Given the description of an element on the screen output the (x, y) to click on. 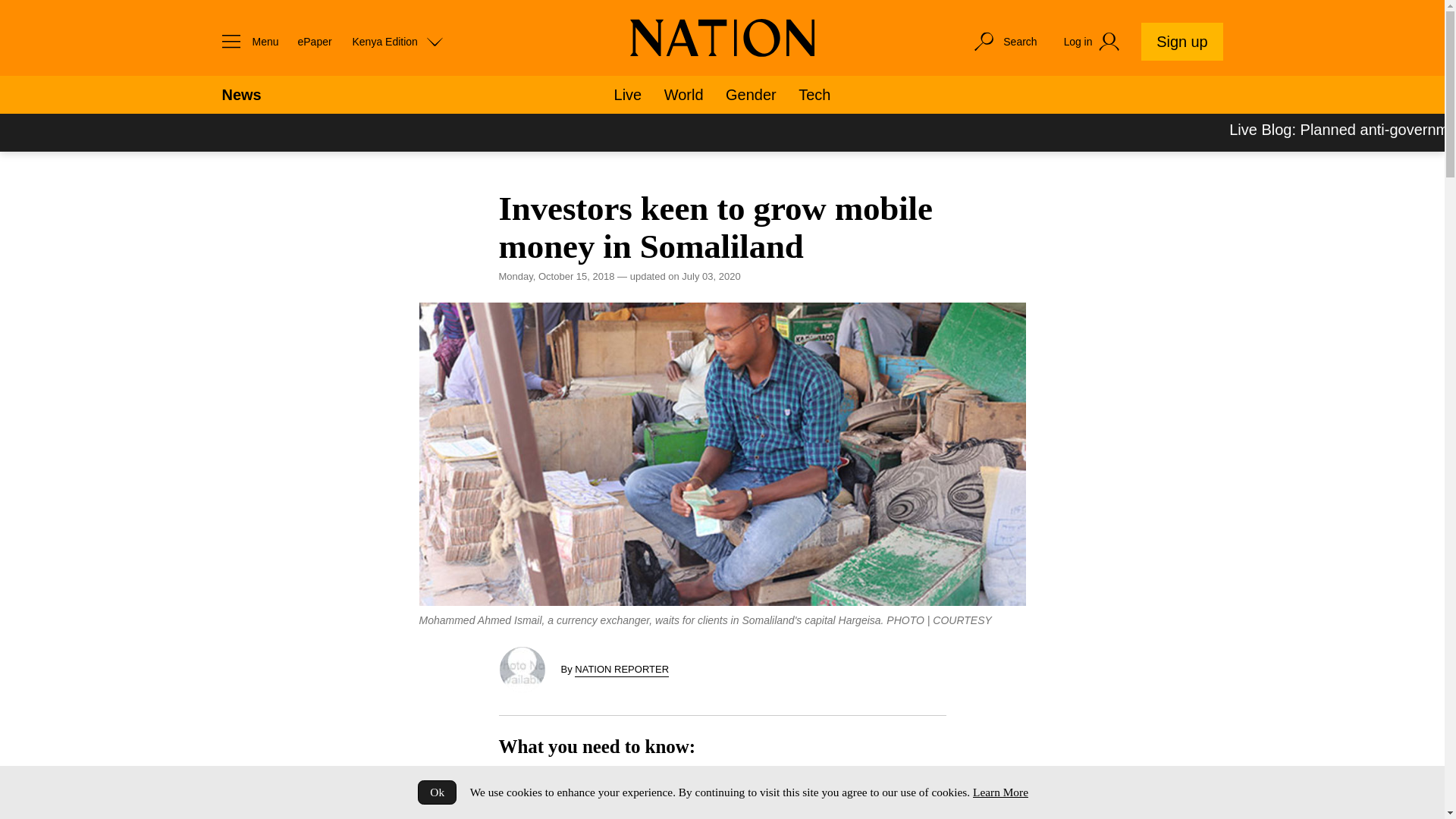
Menu (246, 41)
Ok (437, 792)
Learn More (999, 791)
News (240, 94)
ePaper (314, 41)
Tech (813, 94)
Live (628, 94)
Gender (750, 94)
Kenya Edition (398, 41)
Learn More (999, 791)
Sign up (1182, 41)
Log in (1094, 41)
Search (1003, 41)
World (683, 94)
